Given the description of an element on the screen output the (x, y) to click on. 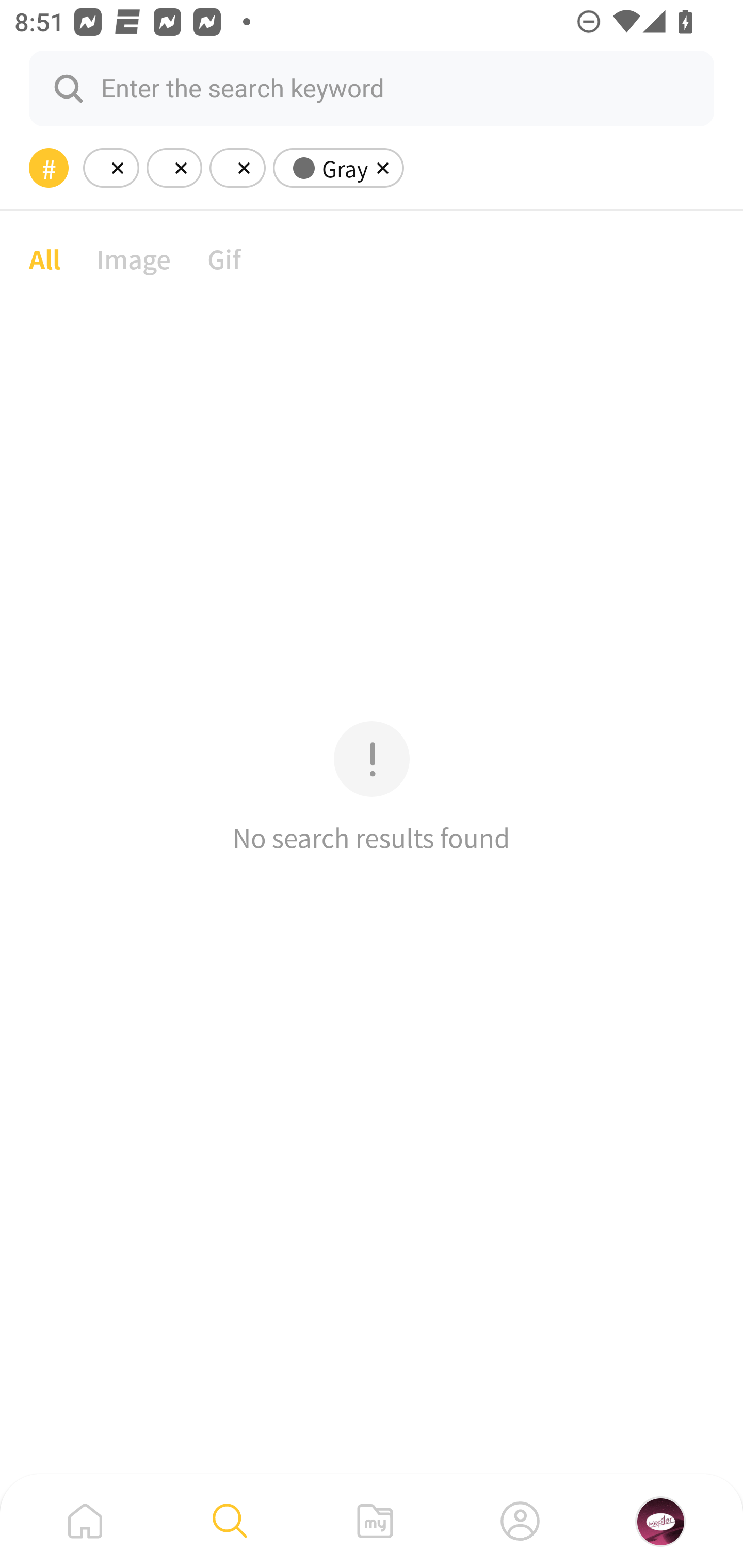
All (44, 257)
Image (133, 257)
Gif (223, 257)
